Given the description of an element on the screen output the (x, y) to click on. 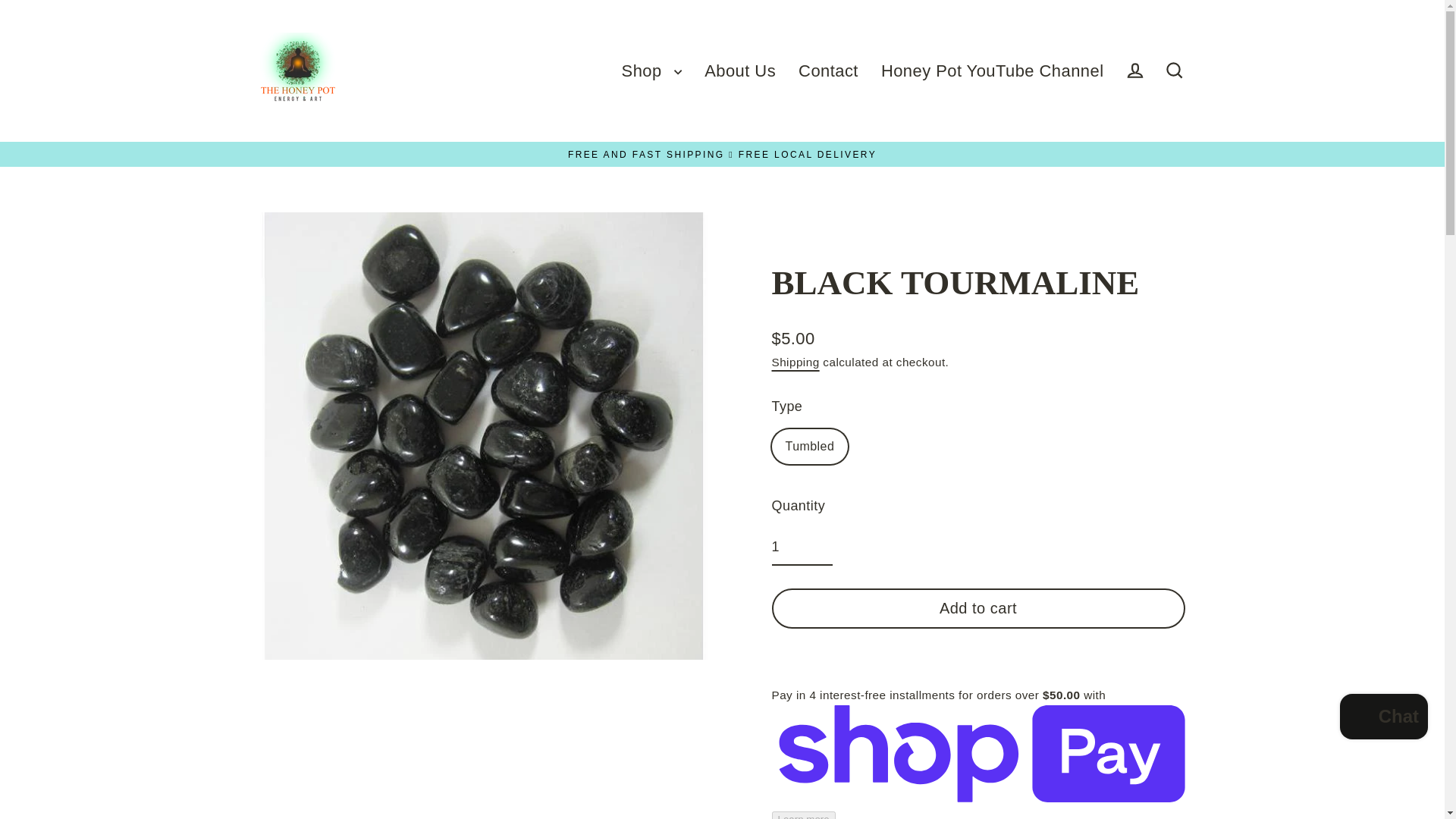
Log in (1134, 70)
1 (801, 547)
Shopify online store chat (1383, 717)
Honey Pot YouTube Channel (992, 70)
Contact (828, 70)
Search (1173, 70)
About Us (740, 70)
